Given the description of an element on the screen output the (x, y) to click on. 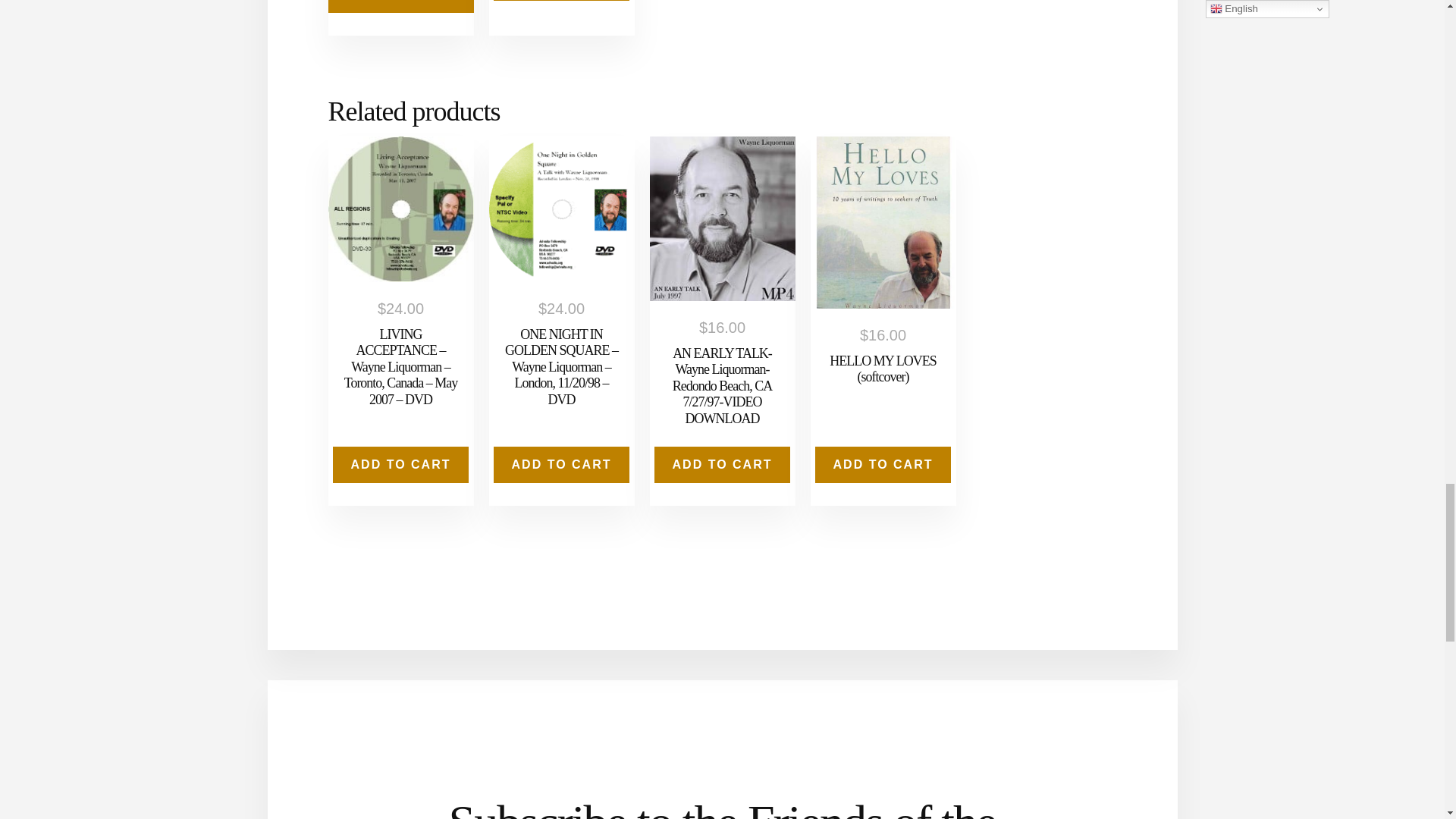
BUY ON AMAZON (400, 6)
